Given the description of an element on the screen output the (x, y) to click on. 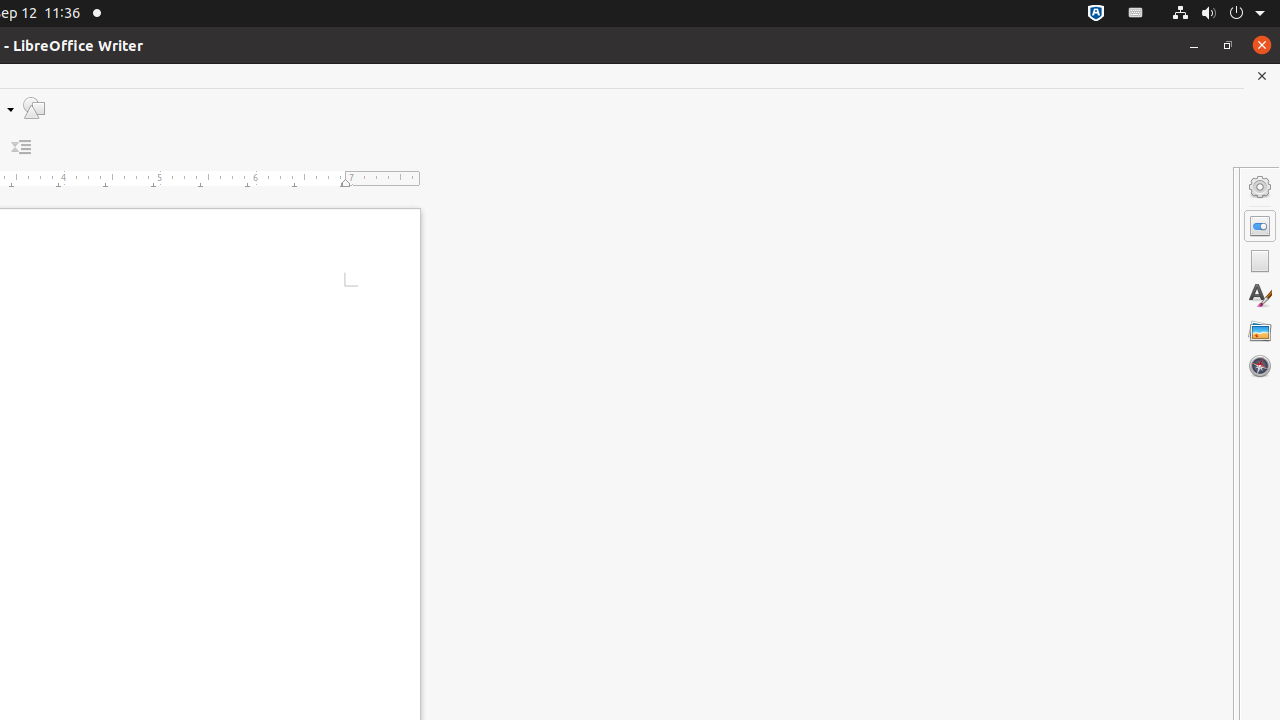
:1.72/StatusNotifierItem Element type: menu (1096, 13)
Gallery Element type: radio-button (1260, 331)
Navigator Element type: radio-button (1260, 366)
Styles Element type: radio-button (1260, 296)
Draw Functions Element type: push-button (33, 108)
